Given the description of an element on the screen output the (x, y) to click on. 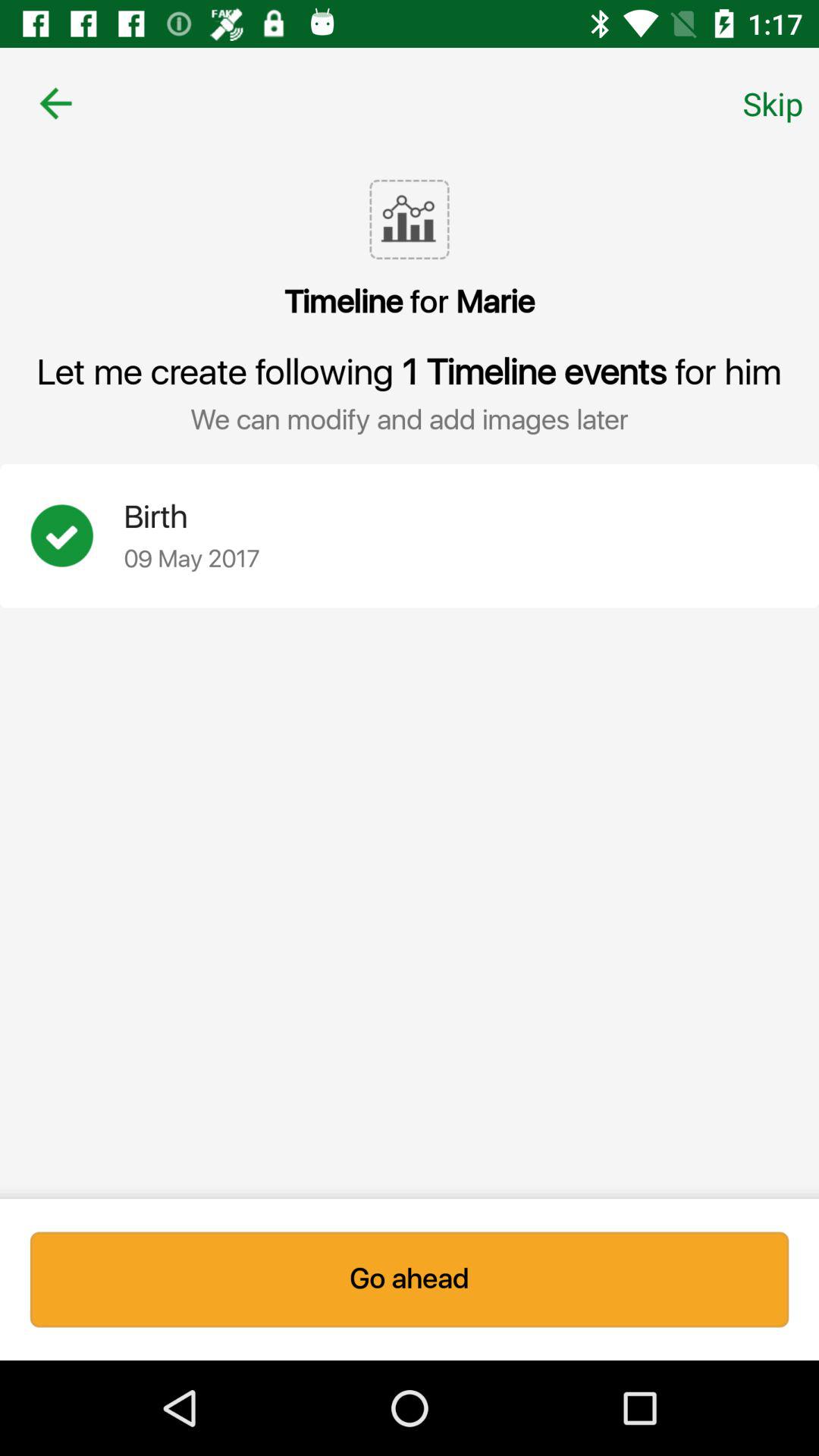
turn off the icon at the top left corner (55, 103)
